Given the description of an element on the screen output the (x, y) to click on. 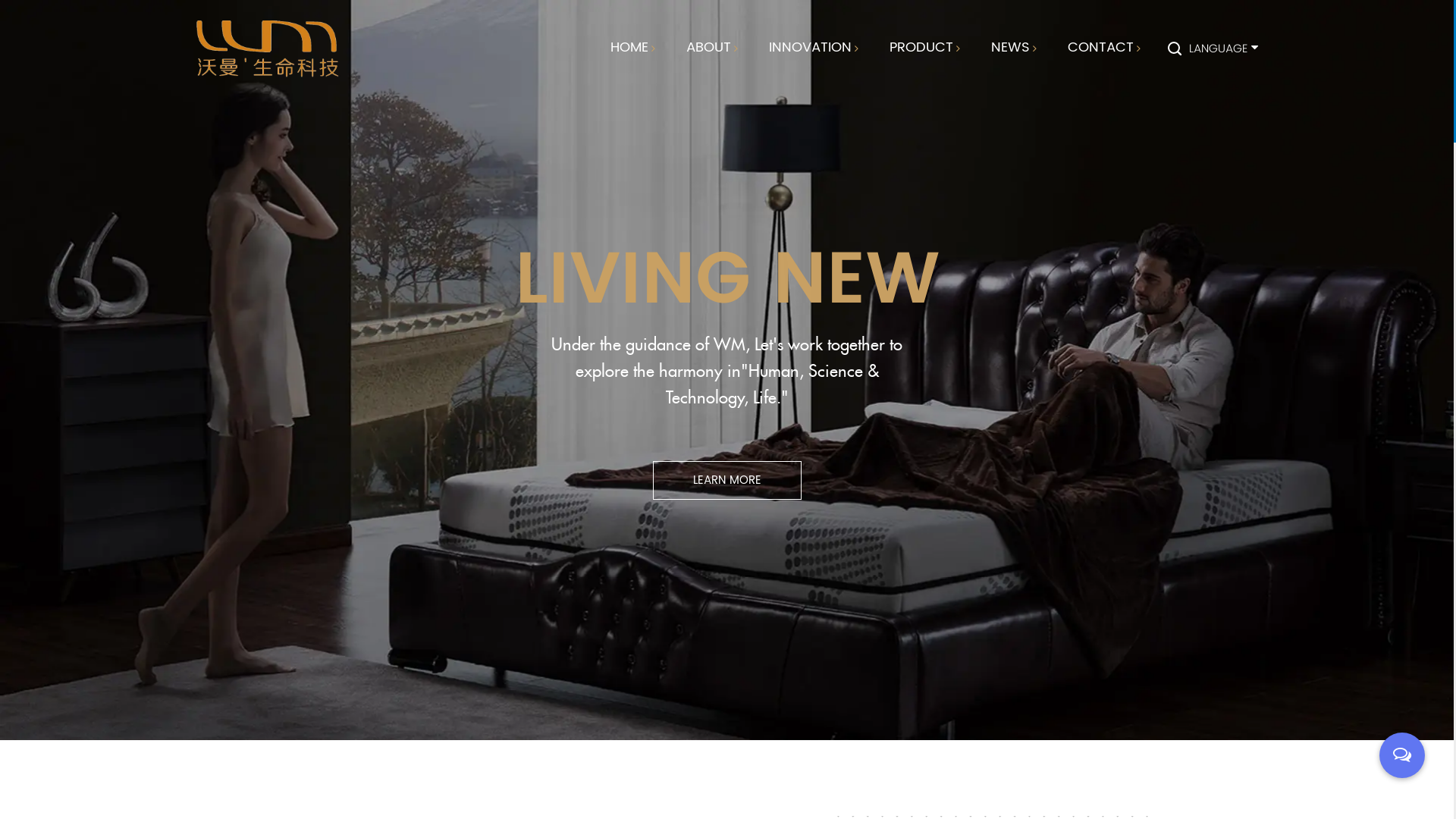
HOME Element type: text (629, 48)
CONTACT Element type: text (1099, 48)
NEWS Element type: text (1010, 48)
INNOVATION Element type: text (809, 48)
ABOUT Element type: text (708, 48)
PRODUCT Element type: text (921, 48)
LEARN MORE Element type: text (726, 480)
